Given the description of an element on the screen output the (x, y) to click on. 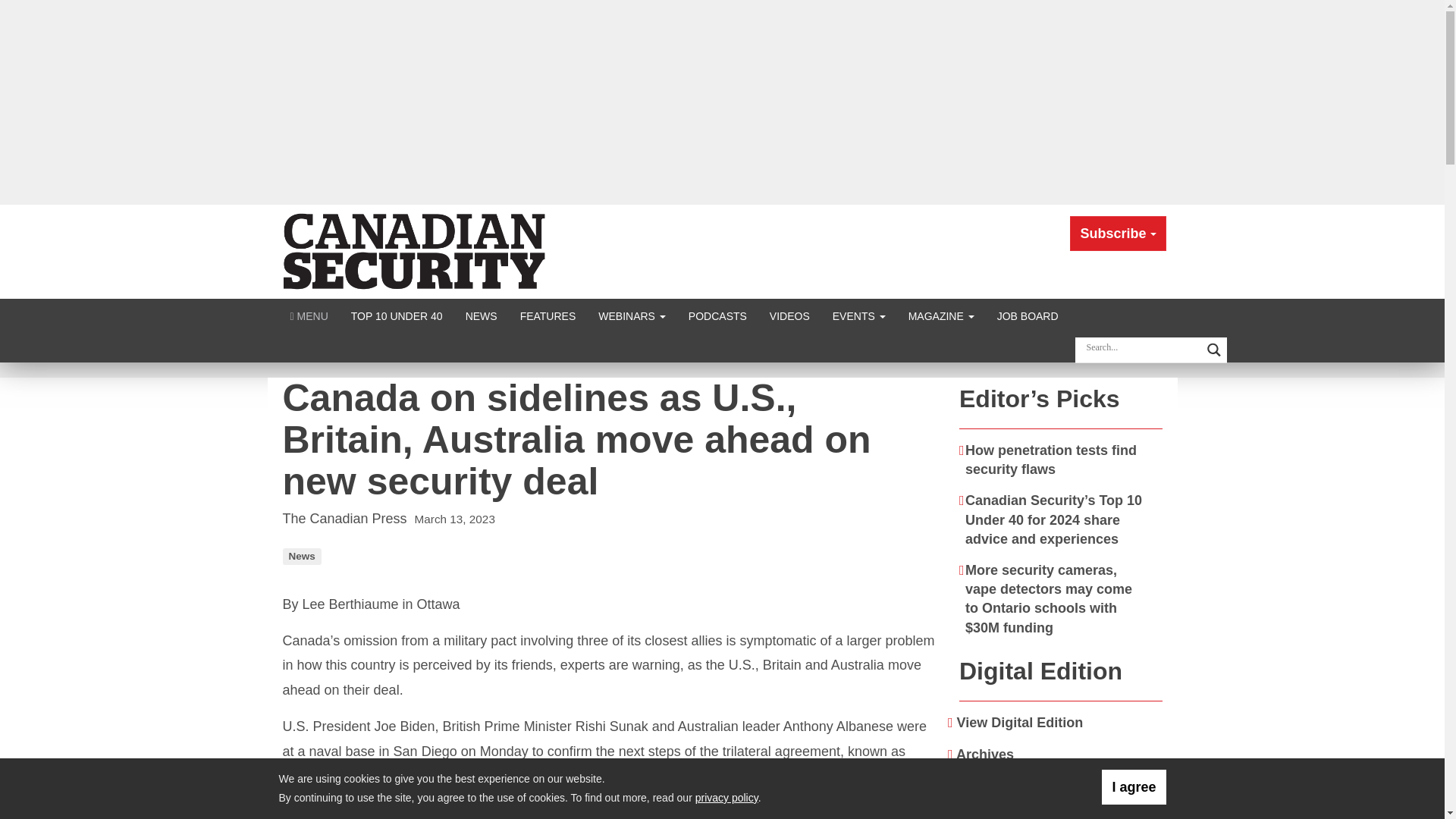
VIDEOS (789, 315)
MAGAZINE (940, 315)
Subscribe (1118, 233)
Click to show site navigation (309, 315)
PODCASTS (717, 315)
Canadian Security Magazine (415, 250)
JOB BOARD (1027, 315)
TOP 10 UNDER 40 (396, 315)
MENU (309, 315)
